Given the description of an element on the screen output the (x, y) to click on. 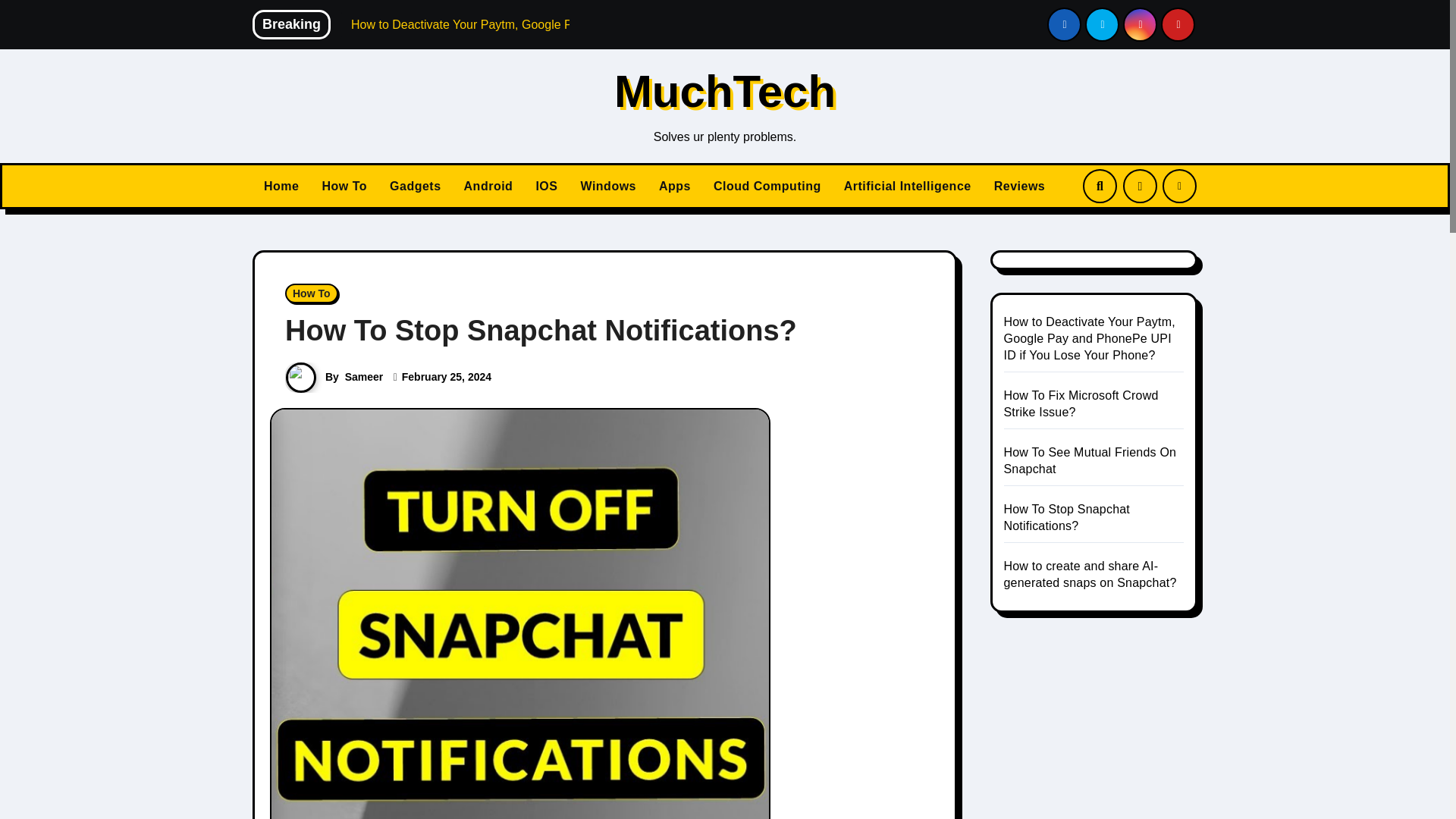
Artificial Intelligence (907, 186)
Home (280, 186)
Apps (674, 186)
Gadgets (415, 186)
Windows (608, 186)
How To (344, 186)
How To Stop Snapchat Notifications? (540, 330)
Cloud Computing (766, 186)
How To (311, 293)
